Given the description of an element on the screen output the (x, y) to click on. 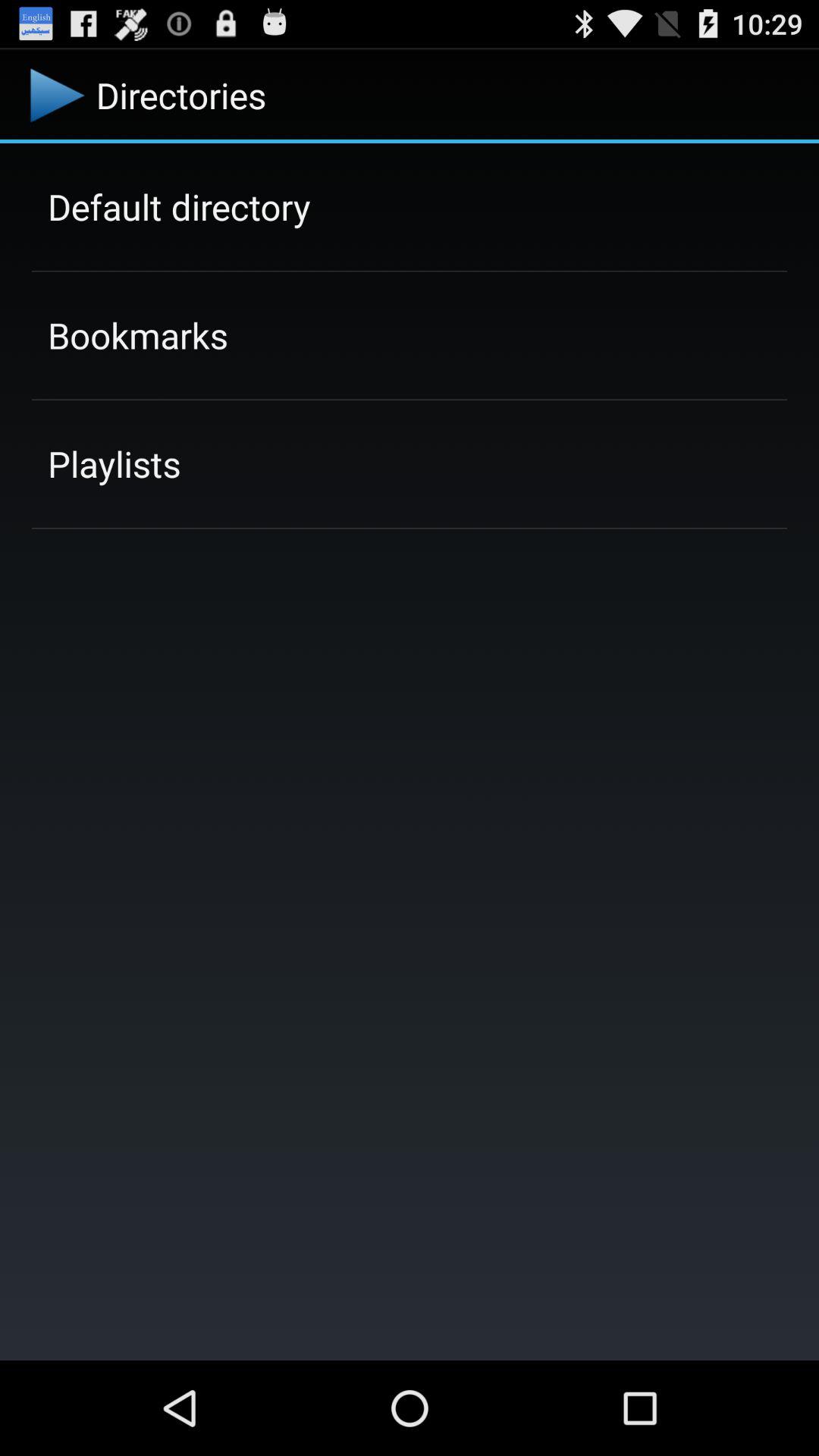
open the icon below the default directory icon (137, 335)
